Given the description of an element on the screen output the (x, y) to click on. 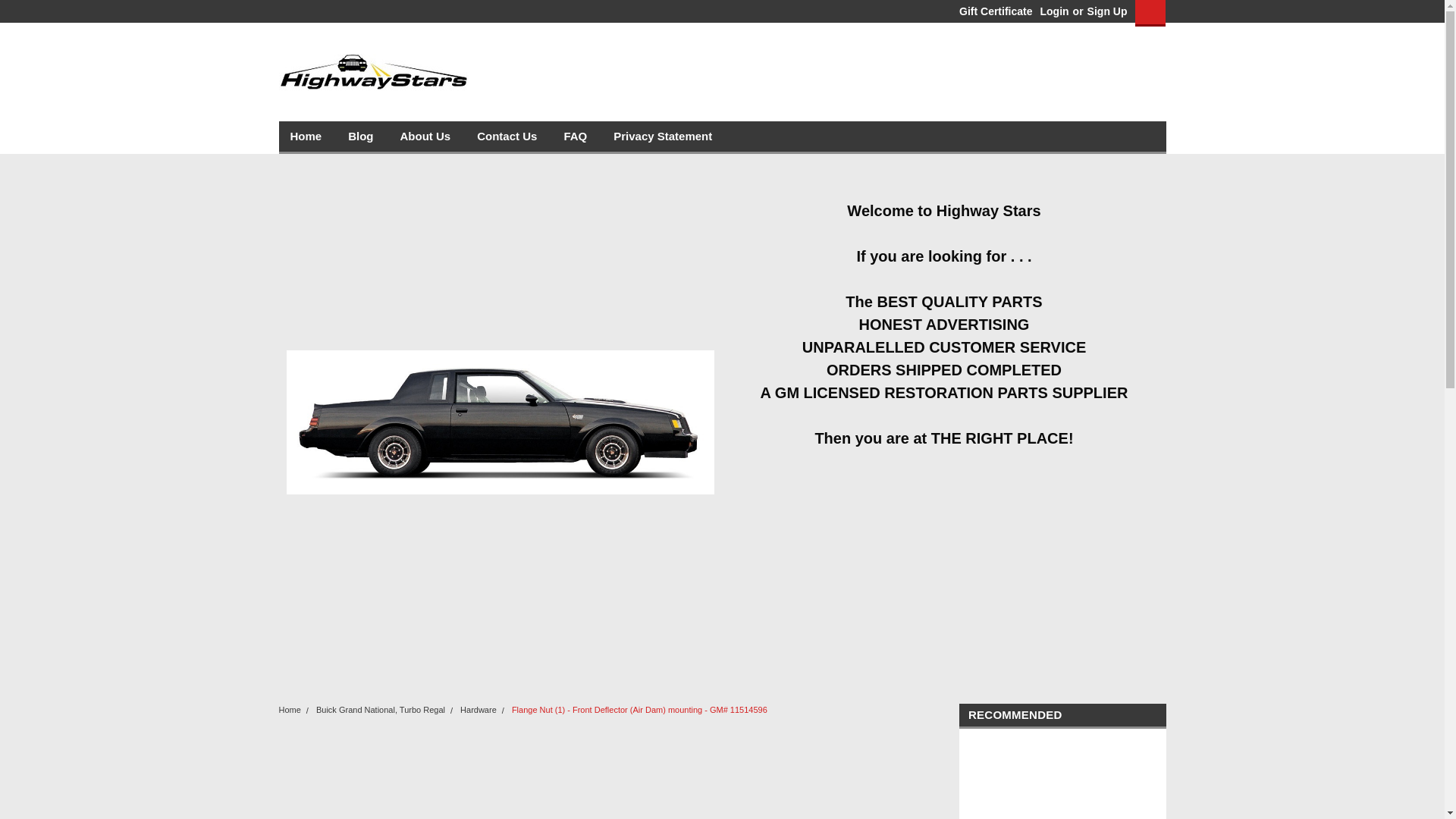
Sign Up (1104, 11)
Login (1054, 11)
Gift Certificate (992, 11)
Highway Stars (373, 72)
